Given the description of an element on the screen output the (x, y) to click on. 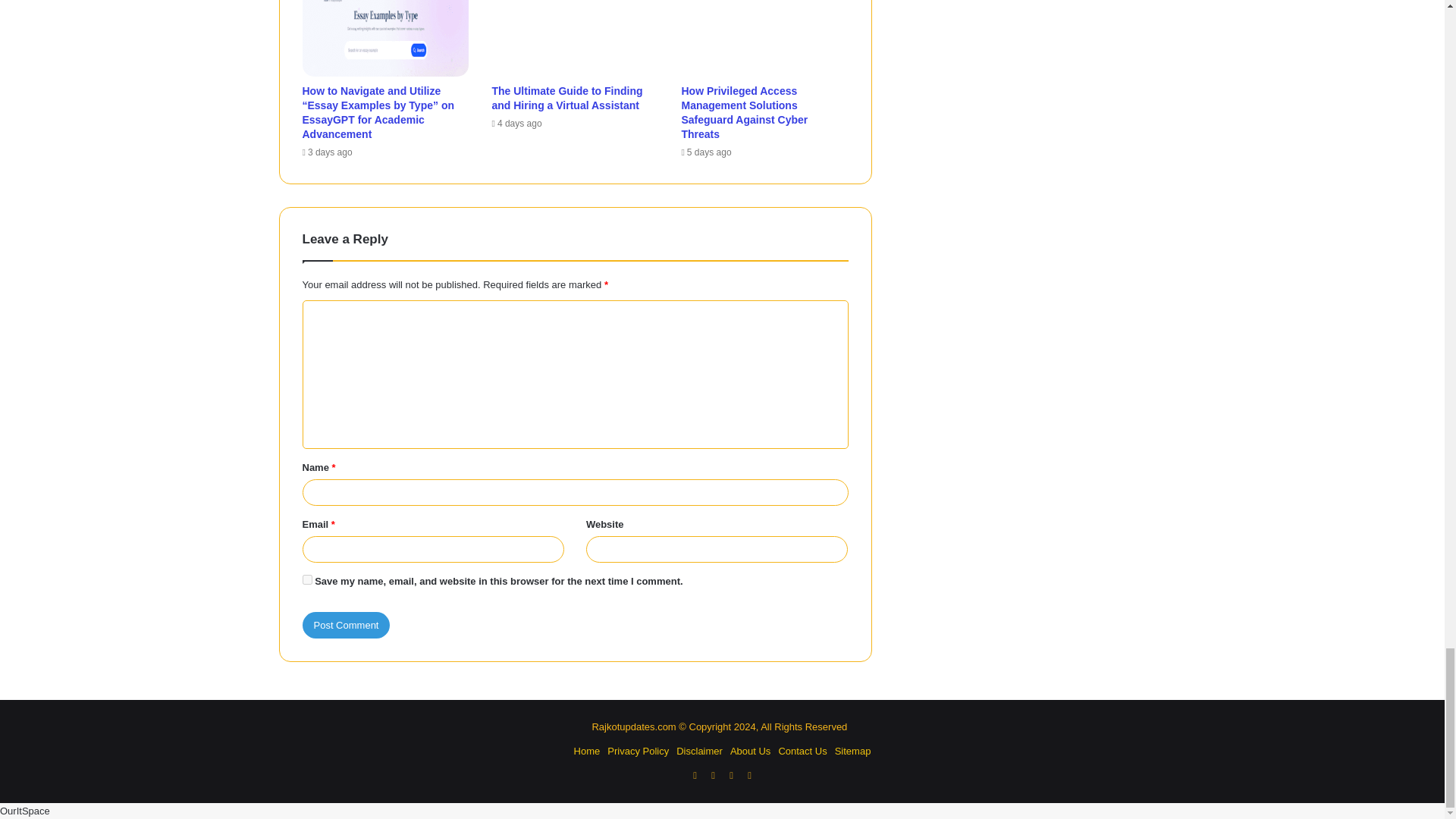
yes (306, 579)
Post Comment (345, 624)
